Given the description of an element on the screen output the (x, y) to click on. 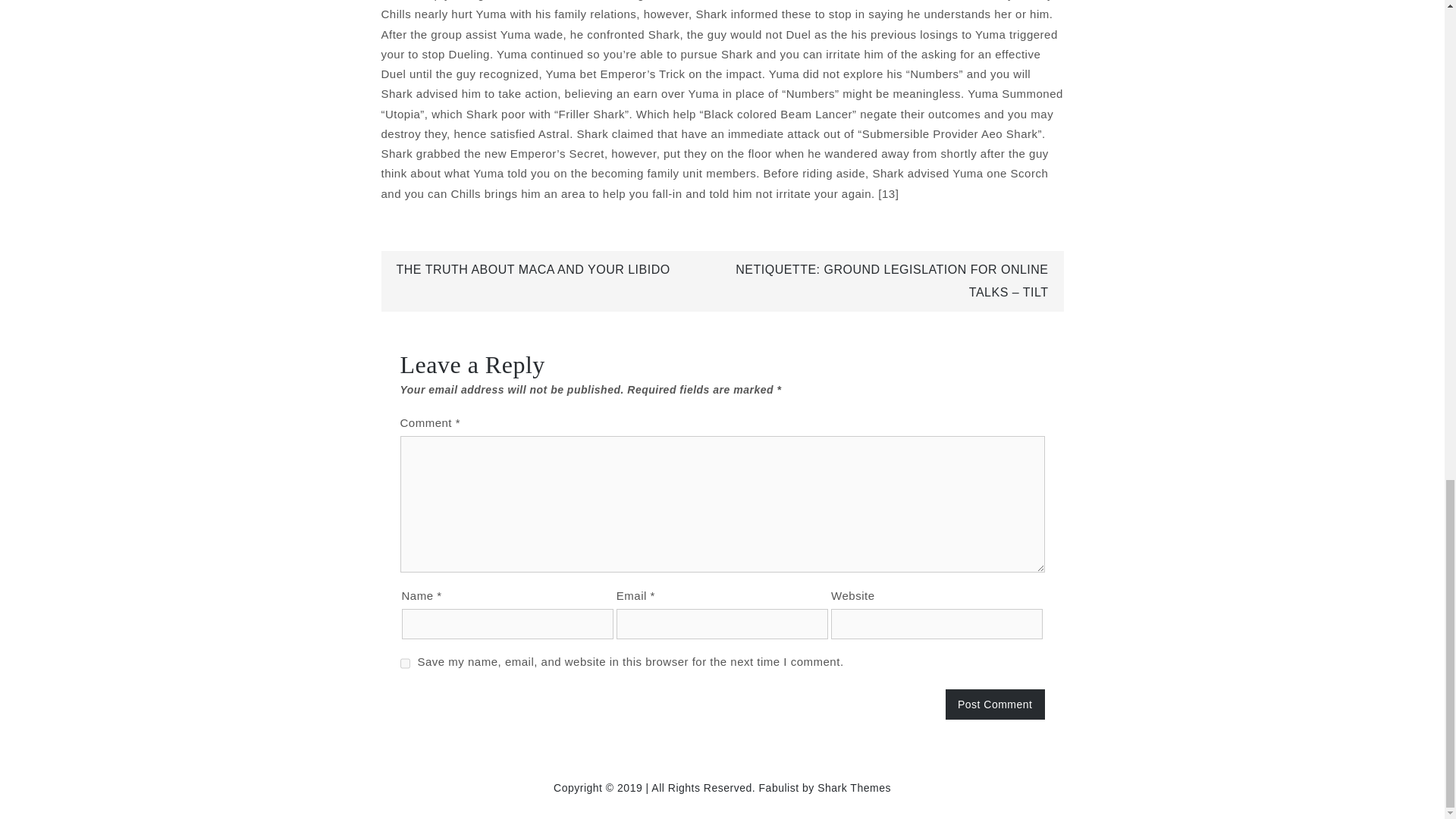
Post Comment (994, 704)
Shark Themes (853, 787)
Post Comment (994, 704)
THE TRUTH ABOUT MACA AND YOUR LIBIDO (532, 269)
